Given the description of an element on the screen output the (x, y) to click on. 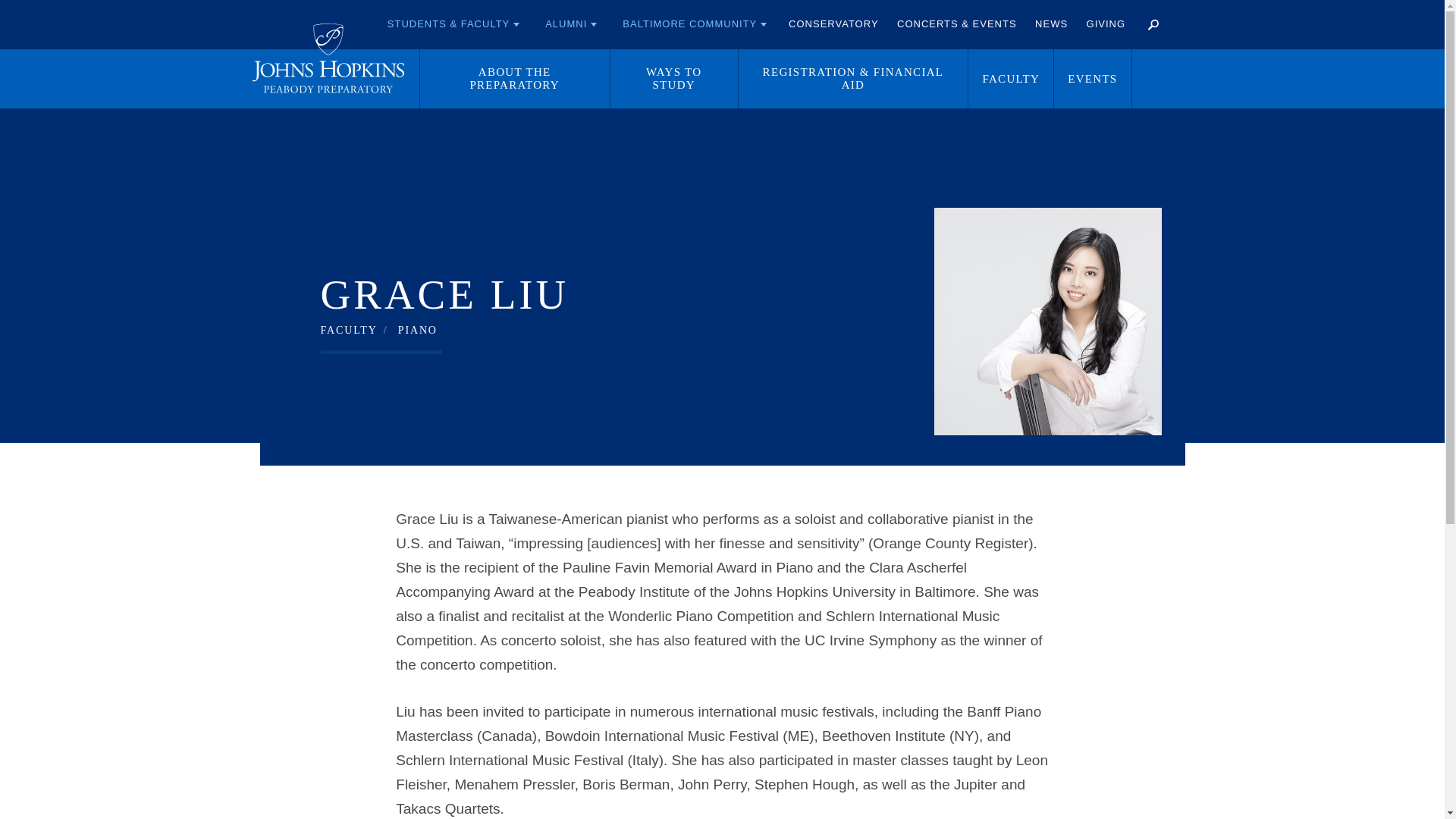
Peabody Institute (327, 58)
NEWS (1051, 24)
BALTIMORE COMMUNITY (694, 24)
WAYS TO STUDY (674, 78)
CONSERVATORY (832, 24)
Search (1152, 23)
ALUMNI (571, 24)
GIVING (1106, 24)
ABOUT THE PREPARATORY (515, 78)
